Given the description of an element on the screen output the (x, y) to click on. 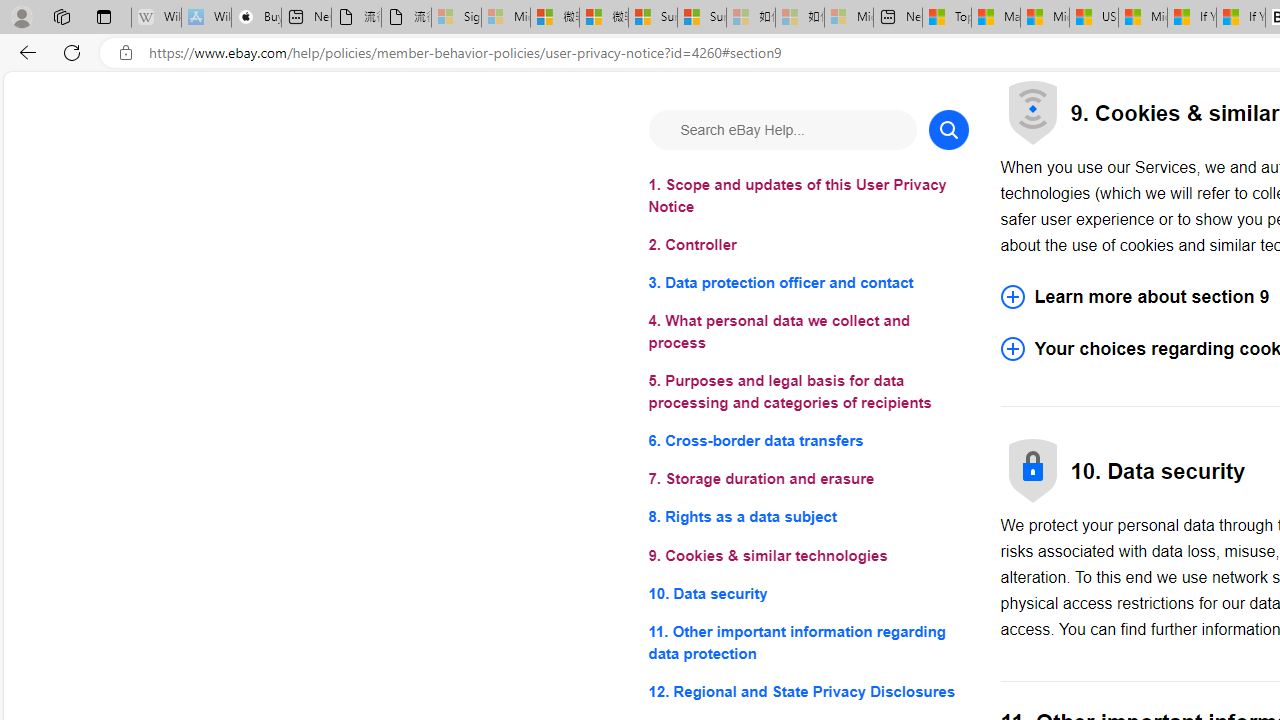
6. Cross-border data transfers (807, 440)
10. Data security (807, 592)
1. Scope and updates of this User Privacy Notice (807, 196)
12. Regional and State Privacy Disclosures (807, 690)
4. What personal data we collect and process (807, 332)
9. Cookies & similar technologies (807, 555)
